Given the description of an element on the screen output the (x, y) to click on. 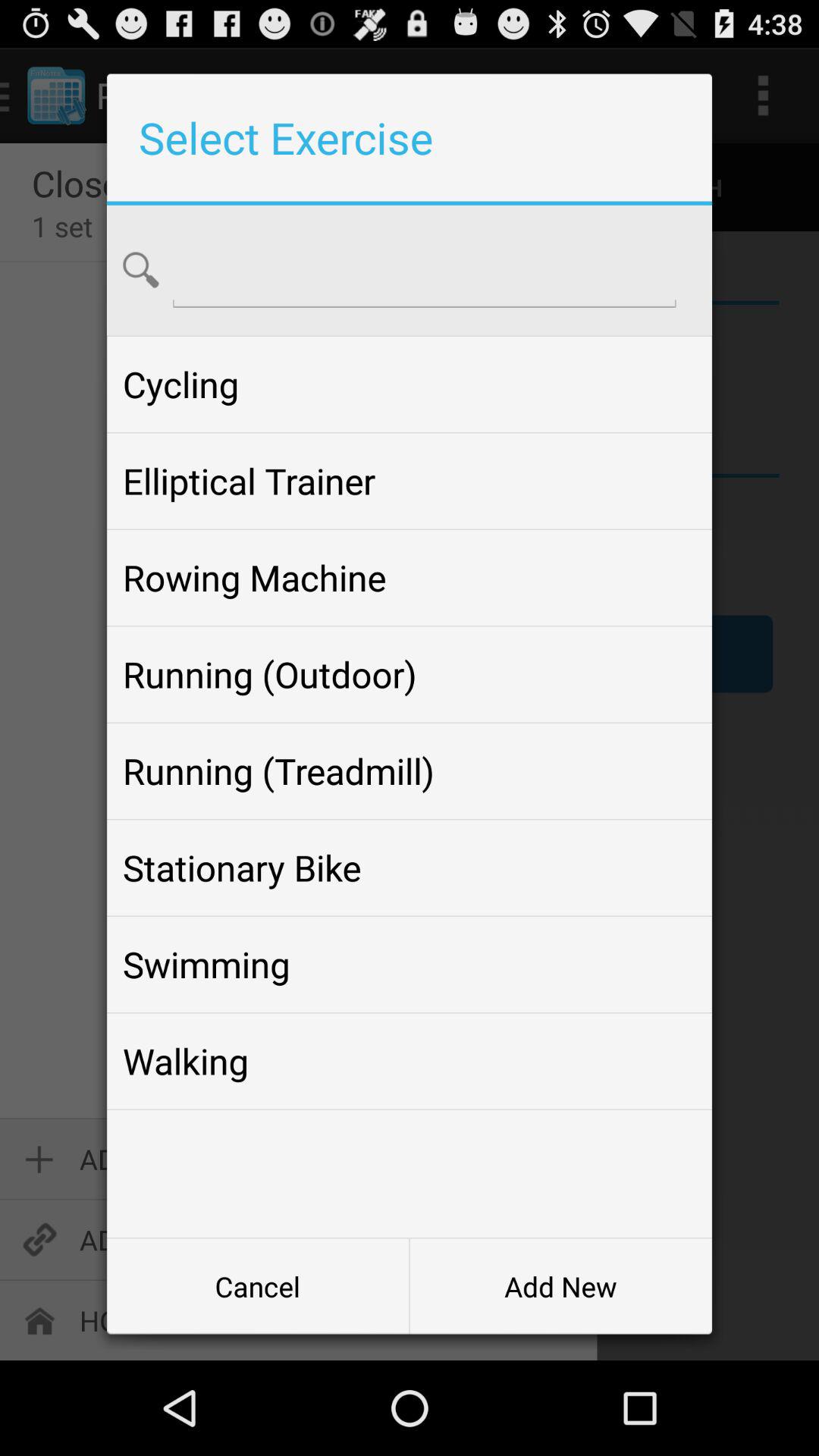
scroll until stationary bike (409, 867)
